Given the description of an element on the screen output the (x, y) to click on. 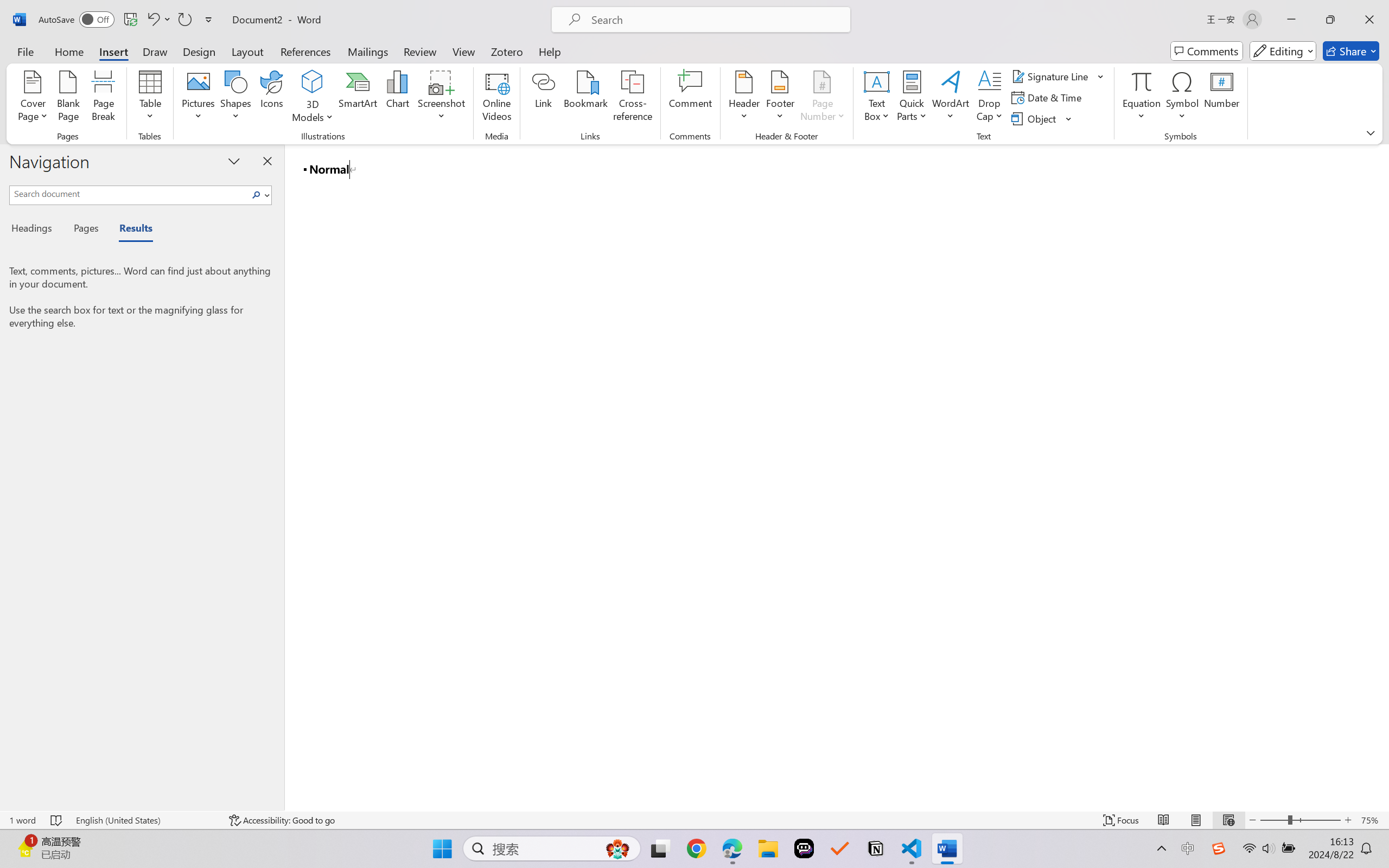
Review (419, 51)
Design (199, 51)
Mailings (367, 51)
Table (149, 97)
Link (543, 97)
3D Models (312, 81)
Quick Parts (912, 97)
Bookmark... (585, 97)
Mode (1283, 50)
Microsoft search (715, 19)
AutoSave (76, 19)
